Given the description of an element on the screen output the (x, y) to click on. 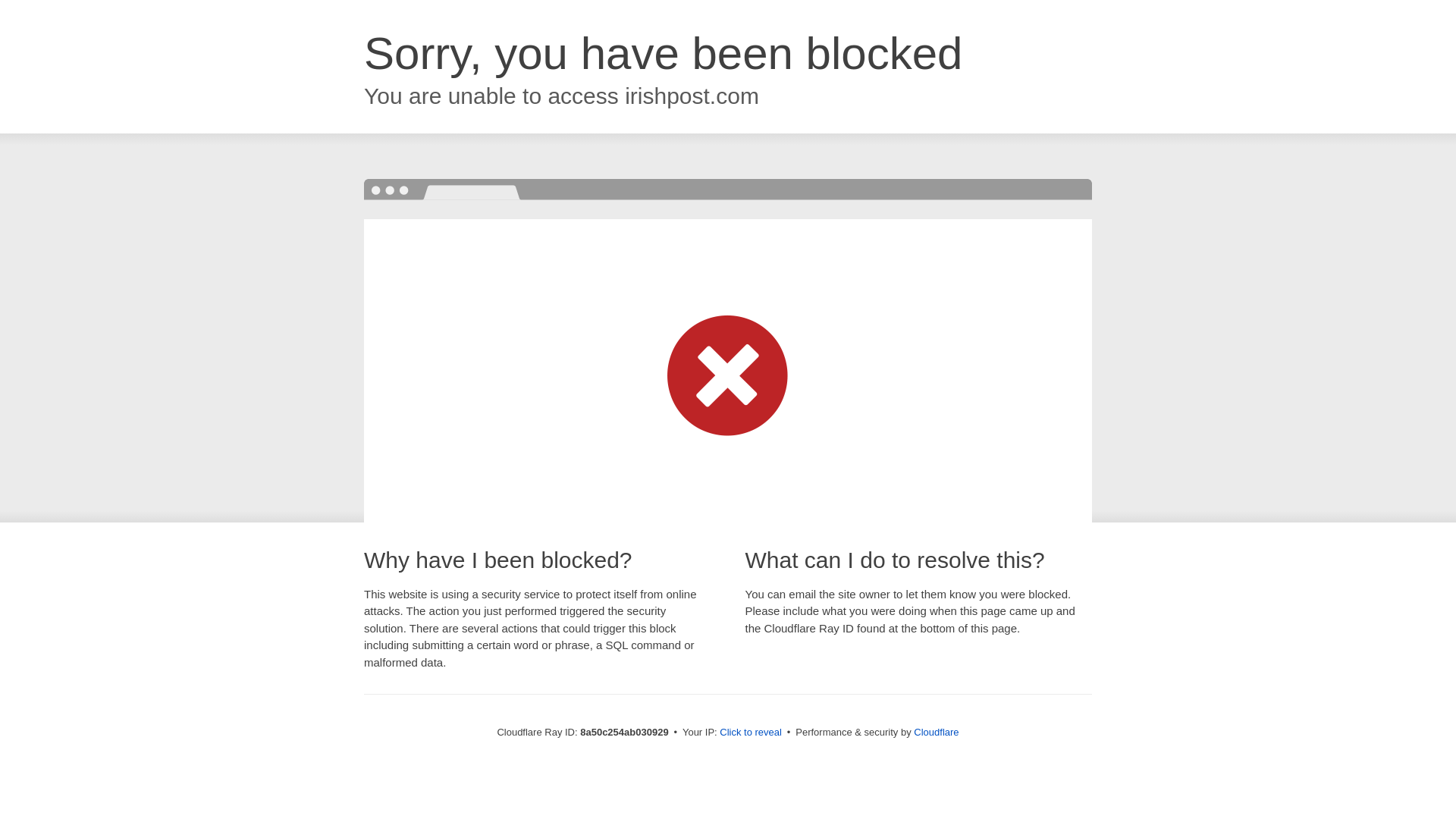
Cloudflare (936, 731)
Click to reveal (750, 732)
